Given the description of an element on the screen output the (x, y) to click on. 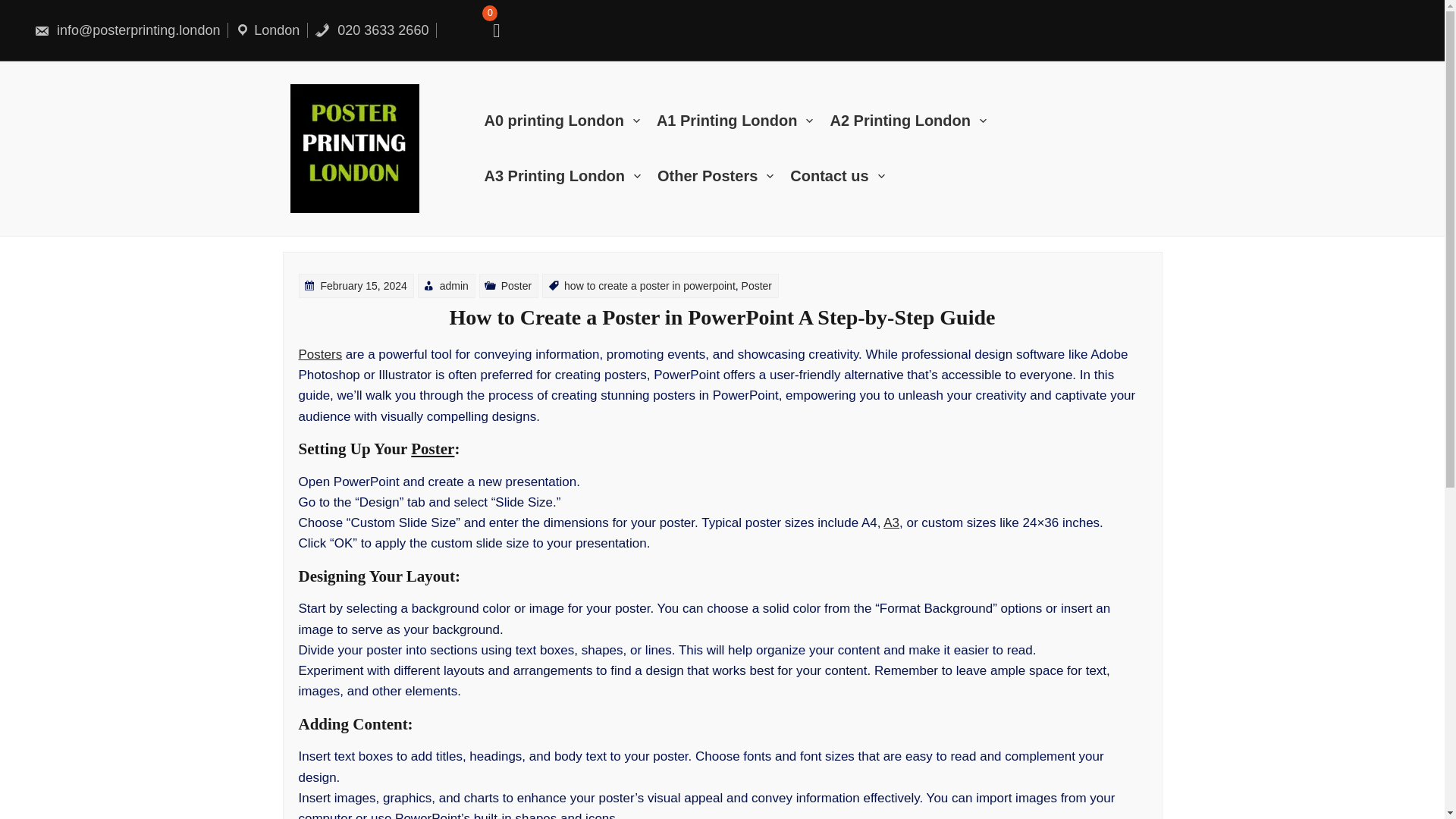
Poster (756, 285)
A2 Printing London (916, 120)
A3 Printing London (570, 175)
A1 Printing London (742, 120)
admin (453, 285)
020 3633 2660 (371, 29)
A3 (891, 522)
Poster (515, 285)
Poster (432, 448)
how to create a poster in powerpoint (649, 285)
